Given the description of an element on the screen output the (x, y) to click on. 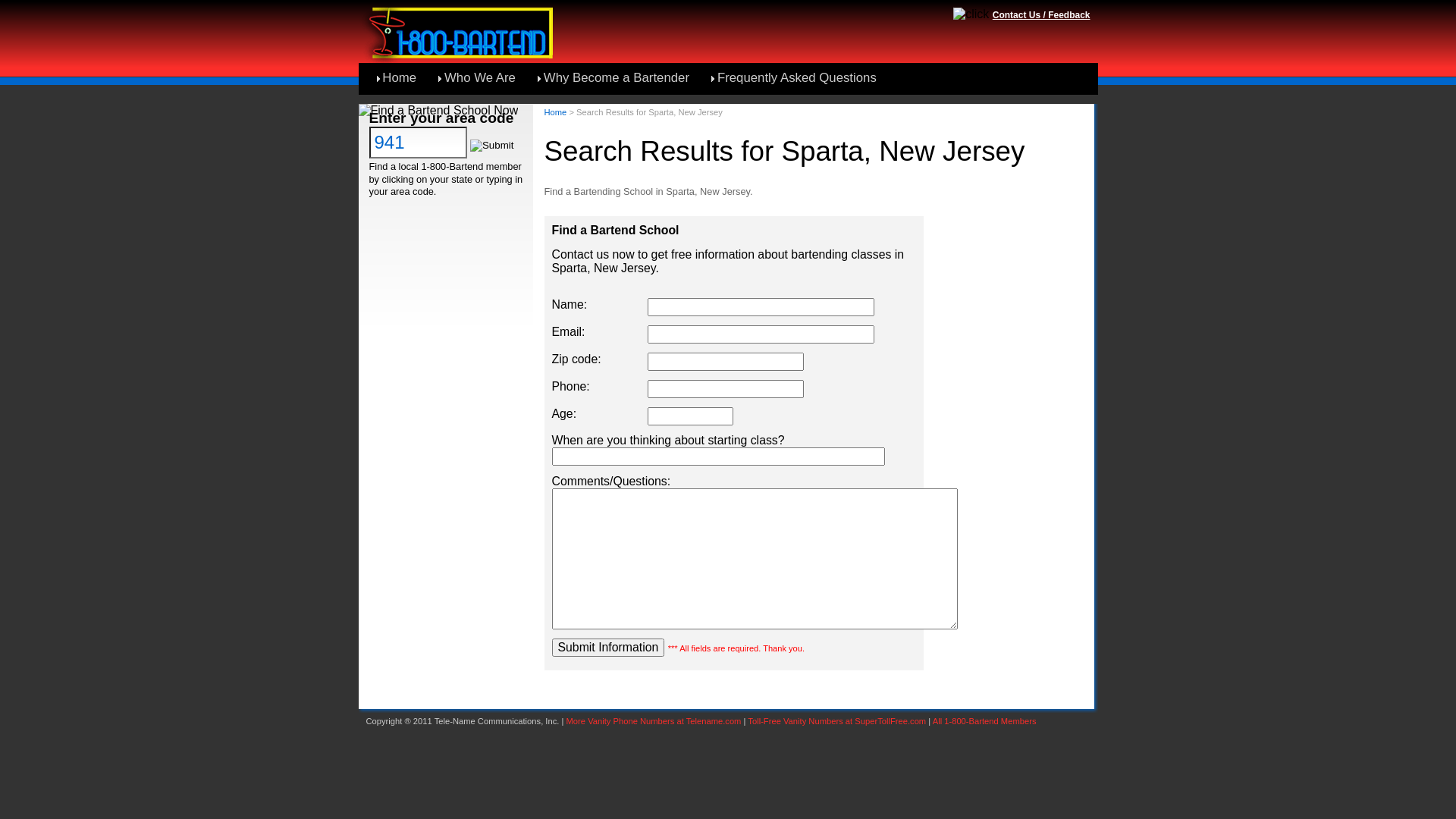
Home Element type: text (396, 78)
Contact Us / Feedback Element type: text (1041, 14)
Submit Information Element type: text (608, 647)
Home Element type: text (555, 111)
Why Become a Bartender Element type: text (613, 78)
Toll-Free Vanity Numbers at SuperTollFree.com Element type: text (836, 720)
All 1-800-Bartend Members Element type: text (984, 720)
More Vanity Phone Numbers at Telename.com Element type: text (653, 720)
Frequently Asked Questions Element type: text (794, 78)
Who We Are Element type: text (477, 78)
Learn About Joining 1-800-Bartend Element type: text (477, 110)
